Given the description of an element on the screen output the (x, y) to click on. 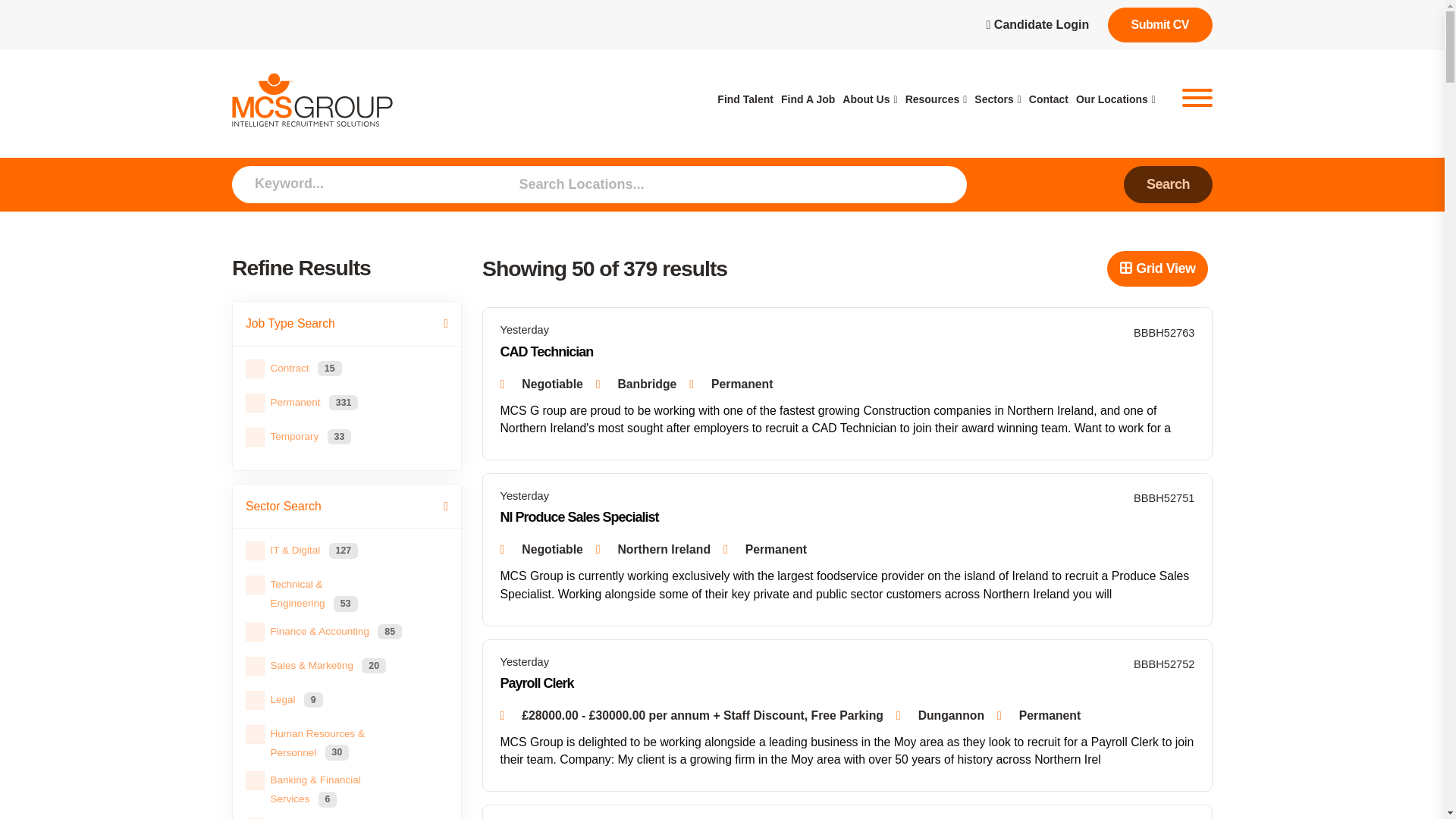
Candidate Login (1038, 24)
Our Locations (1115, 99)
About Us (869, 99)
Find Talent (745, 99)
Find A Job (807, 99)
Resources (936, 99)
Submit CV (1160, 24)
Contact (1048, 99)
Sectors (997, 99)
